Given the description of an element on the screen output the (x, y) to click on. 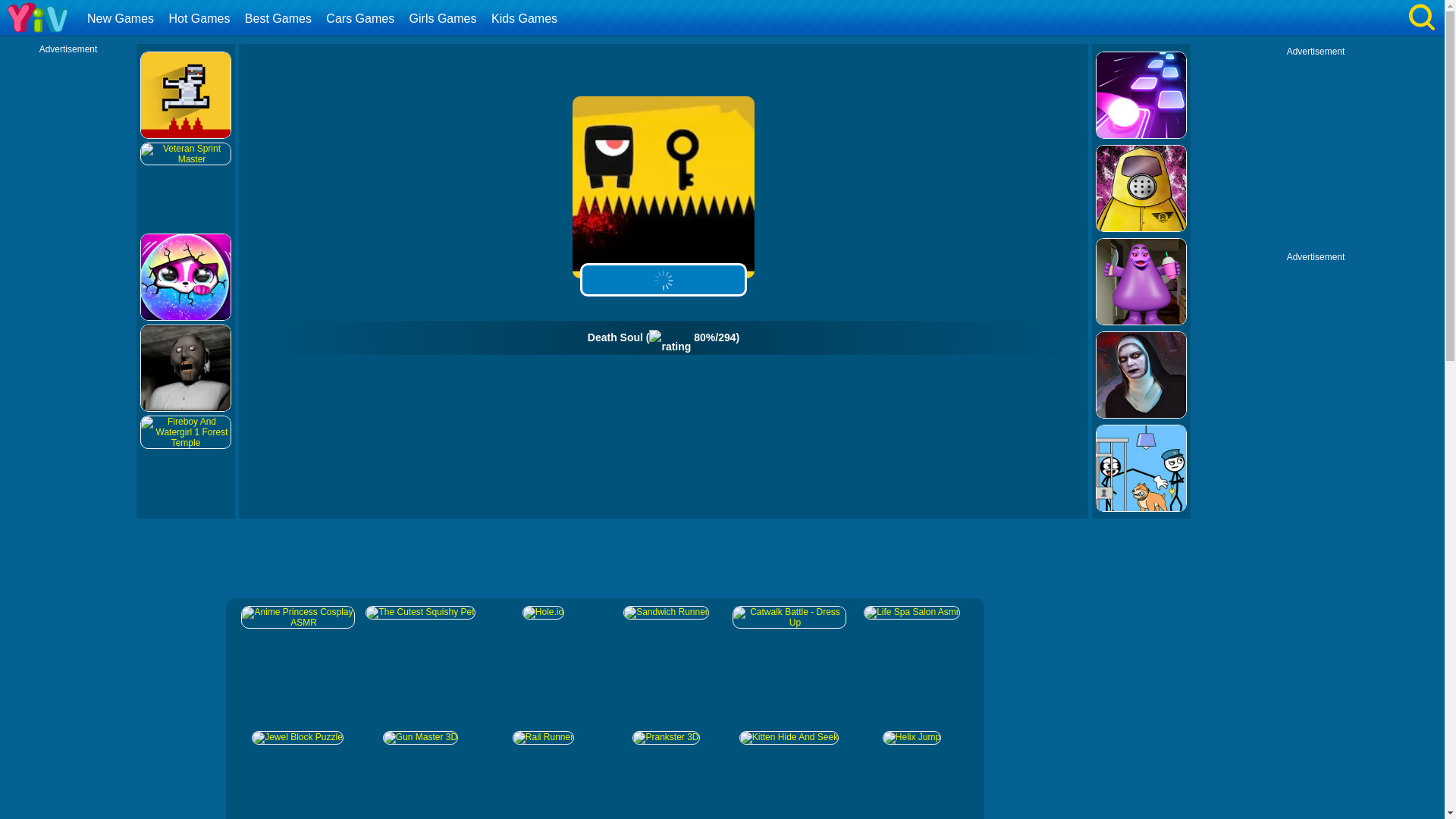
New Games (121, 18)
Girls Games (445, 18)
Kids Games (525, 18)
Best Games (279, 18)
Cars Games (361, 18)
Hot Games (200, 18)
